Given the description of an element on the screen output the (x, y) to click on. 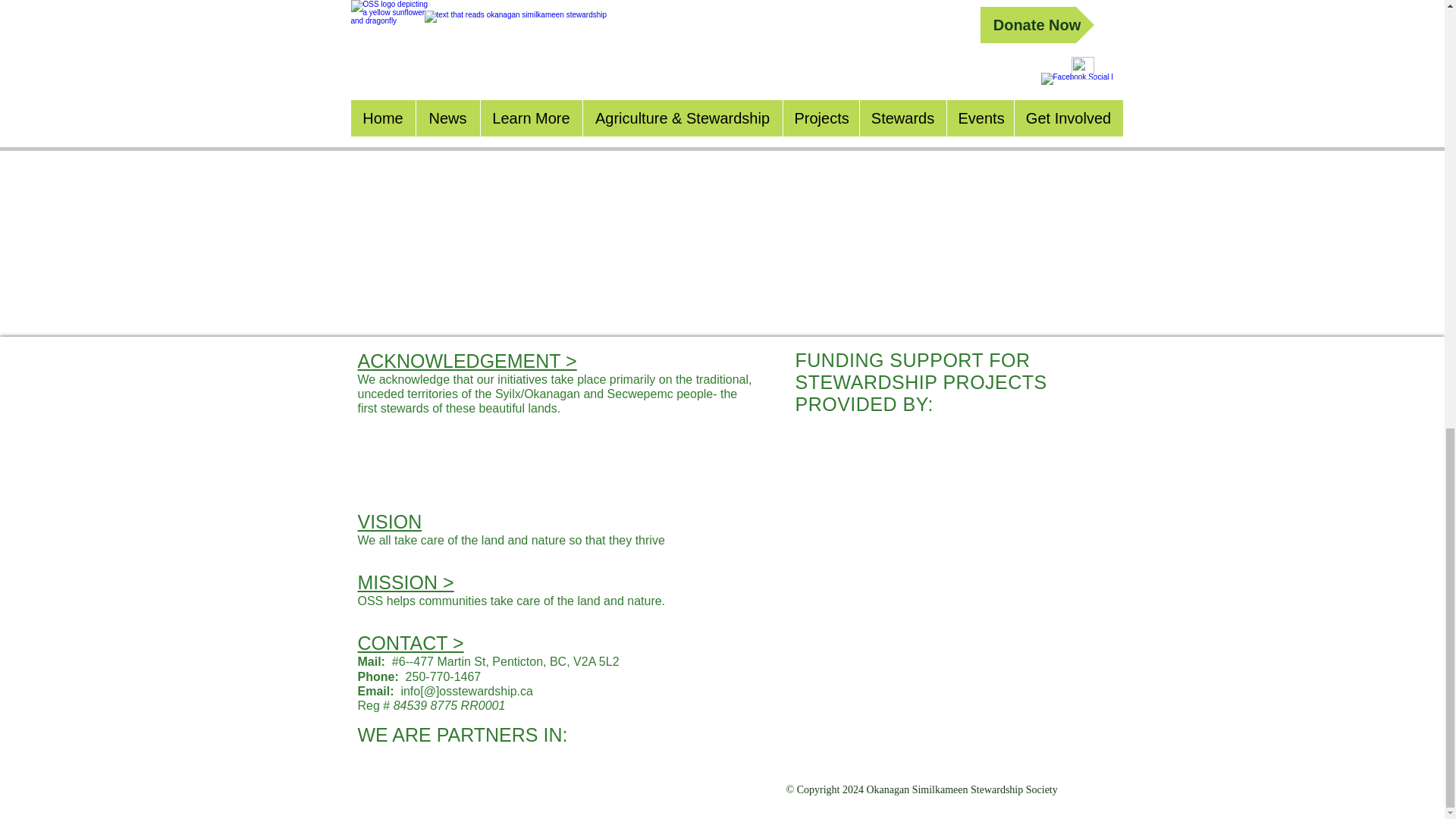
VISION (390, 521)
